Given the description of an element on the screen output the (x, y) to click on. 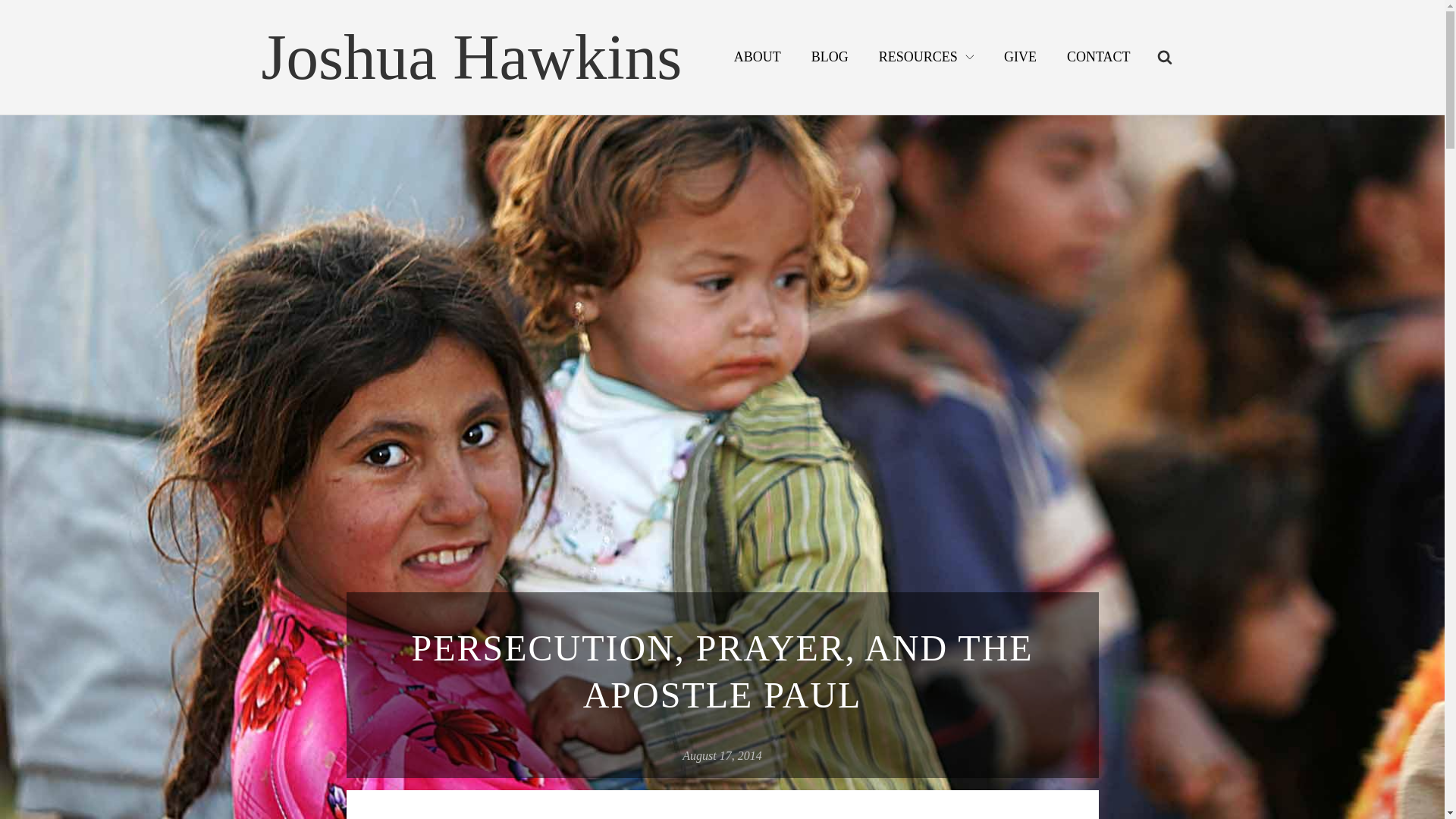
BLOG (829, 57)
Joshua Hawkins (470, 57)
GIVE (1019, 57)
ABOUT (757, 57)
CONTACT (1098, 57)
RESOURCES (925, 57)
